Given the description of an element on the screen output the (x, y) to click on. 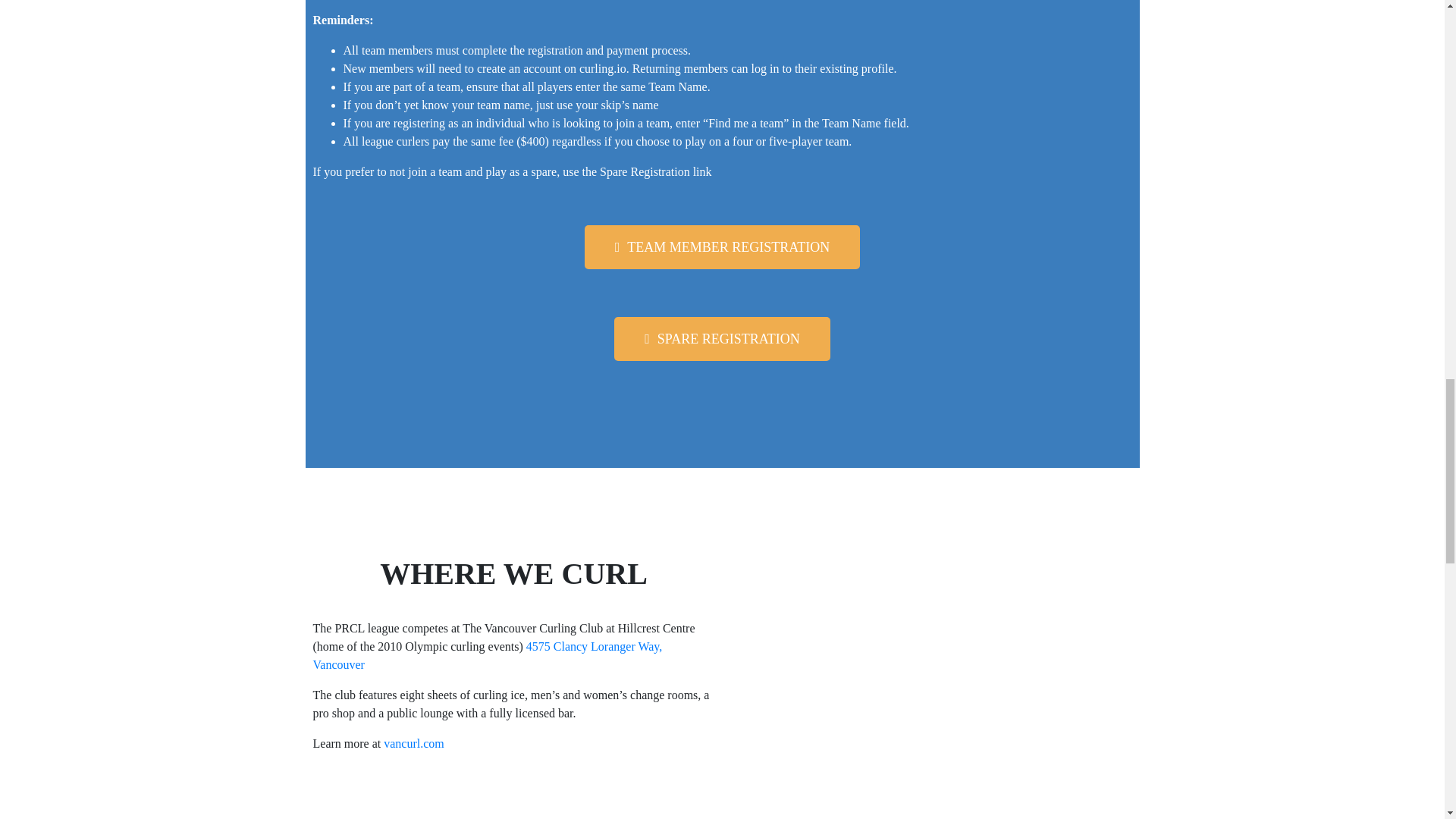
SPARE REGISTRATION (721, 338)
4575 Clancy Loranger Way, Vancouver (487, 654)
TEAM MEMBER REGISTRATION (722, 247)
vancurl.com (414, 743)
Hillcrest Centre Vancouver BC (930, 688)
